Given the description of an element on the screen output the (x, y) to click on. 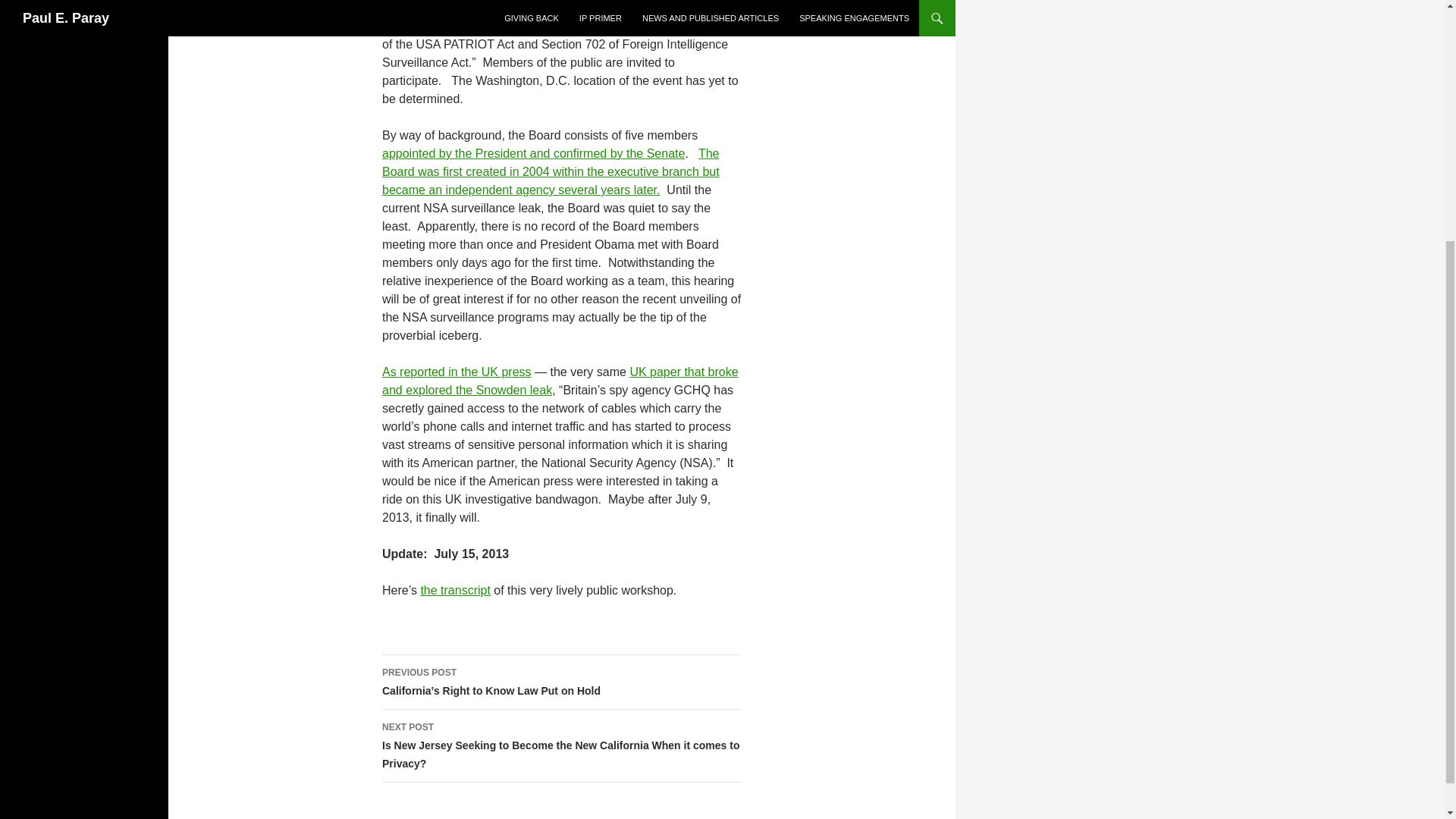
appointed by the President and confirmed by the Senate (532, 153)
the transcript (454, 590)
The (708, 153)
UK paper that broke and explored the Snowden leak (559, 380)
As reported in the UK press (456, 371)
